Given the description of an element on the screen output the (x, y) to click on. 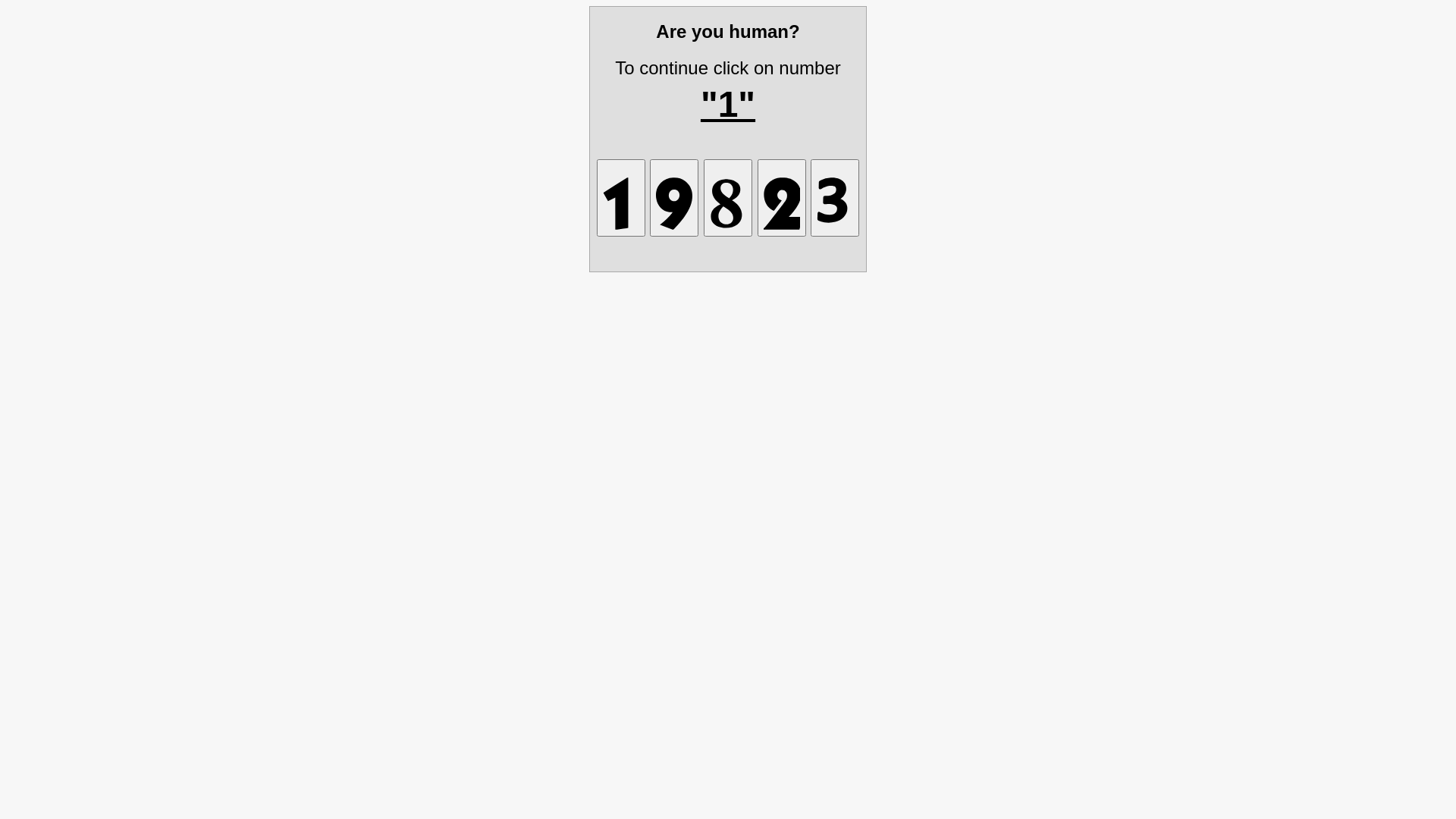
1732463632331121 Element type: text (834, 197)
1732463632614721 Element type: text (620, 197)
1732463632527091 Element type: text (673, 197)
1732463632892424 Element type: text (781, 197)
1732463632185050 Element type: text (727, 197)
